Given the description of an element on the screen output the (x, y) to click on. 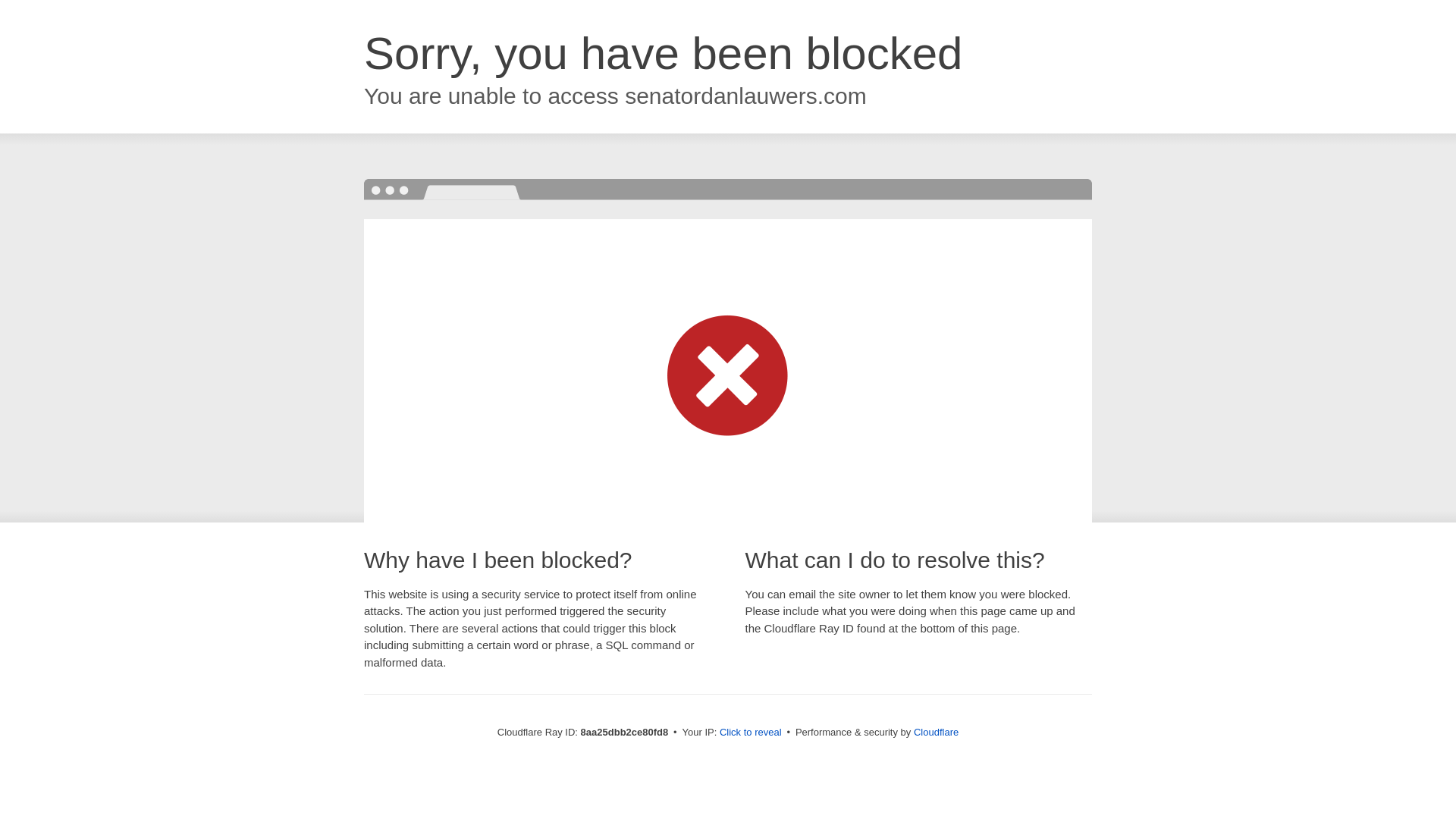
Cloudflare (936, 731)
Click to reveal (750, 732)
